Given the description of an element on the screen output the (x, y) to click on. 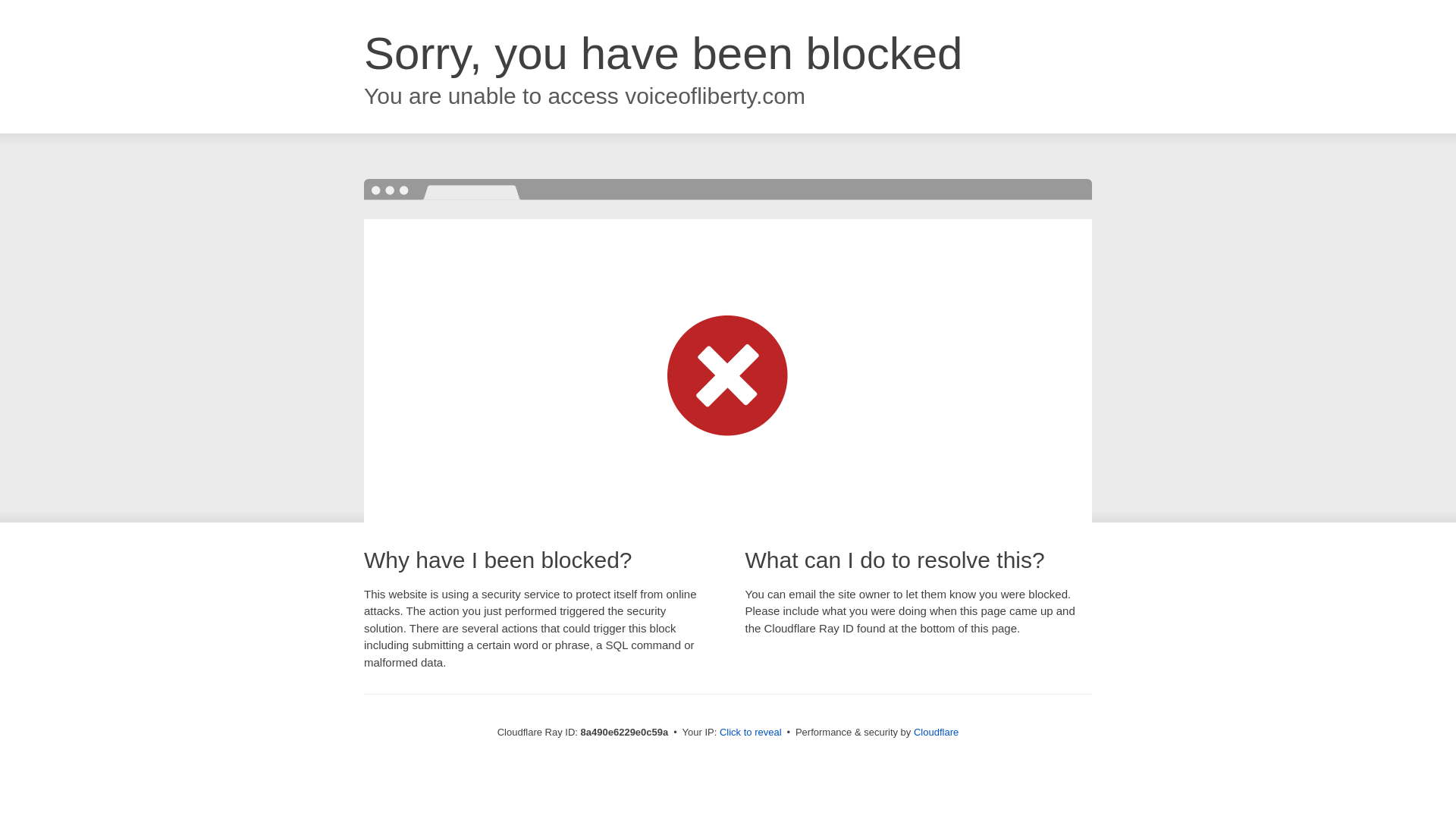
Cloudflare (936, 731)
Click to reveal (750, 732)
